Given the description of an element on the screen output the (x, y) to click on. 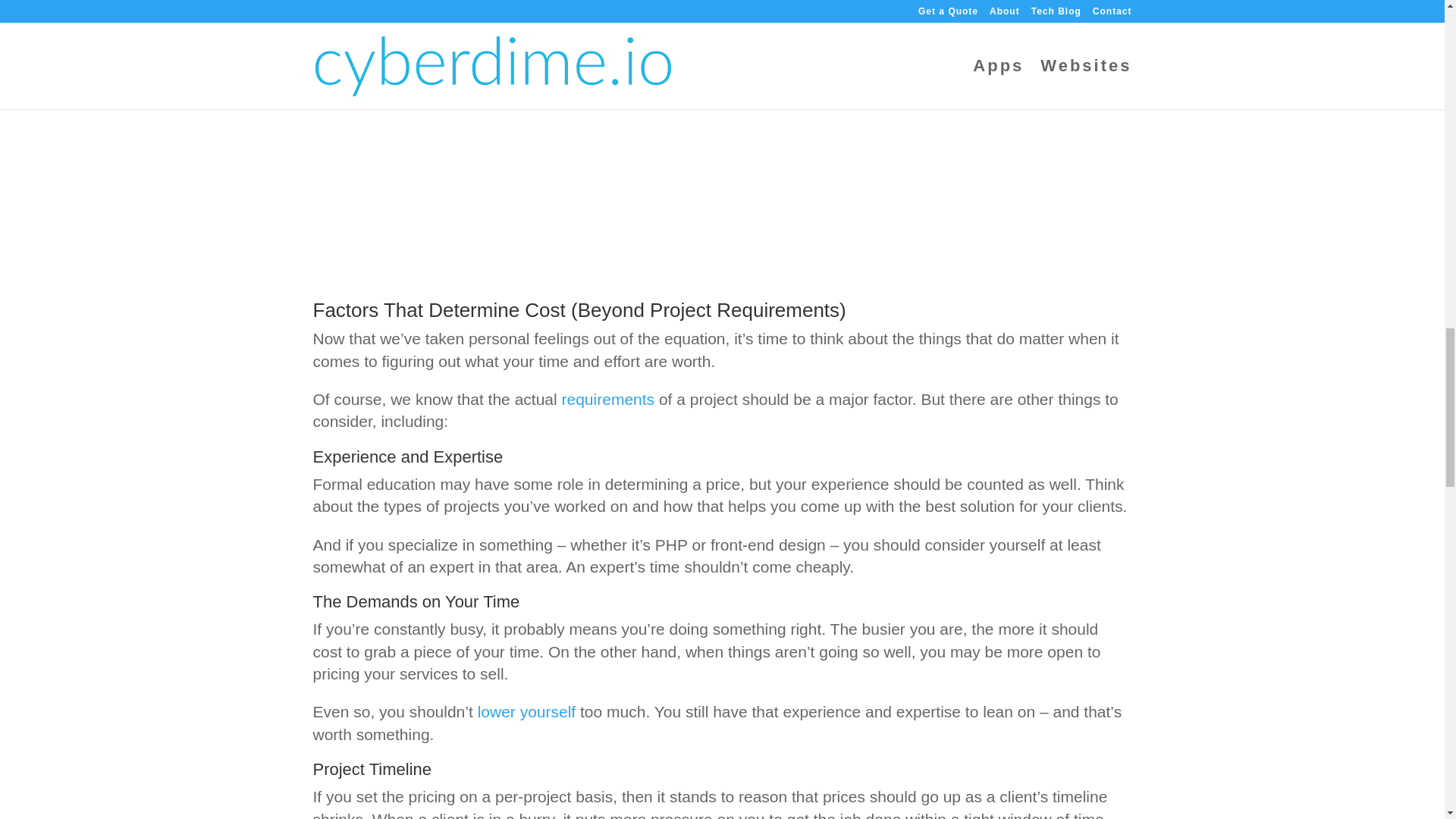
lower yourself (526, 711)
requirements (608, 398)
